Given the description of an element on the screen output the (x, y) to click on. 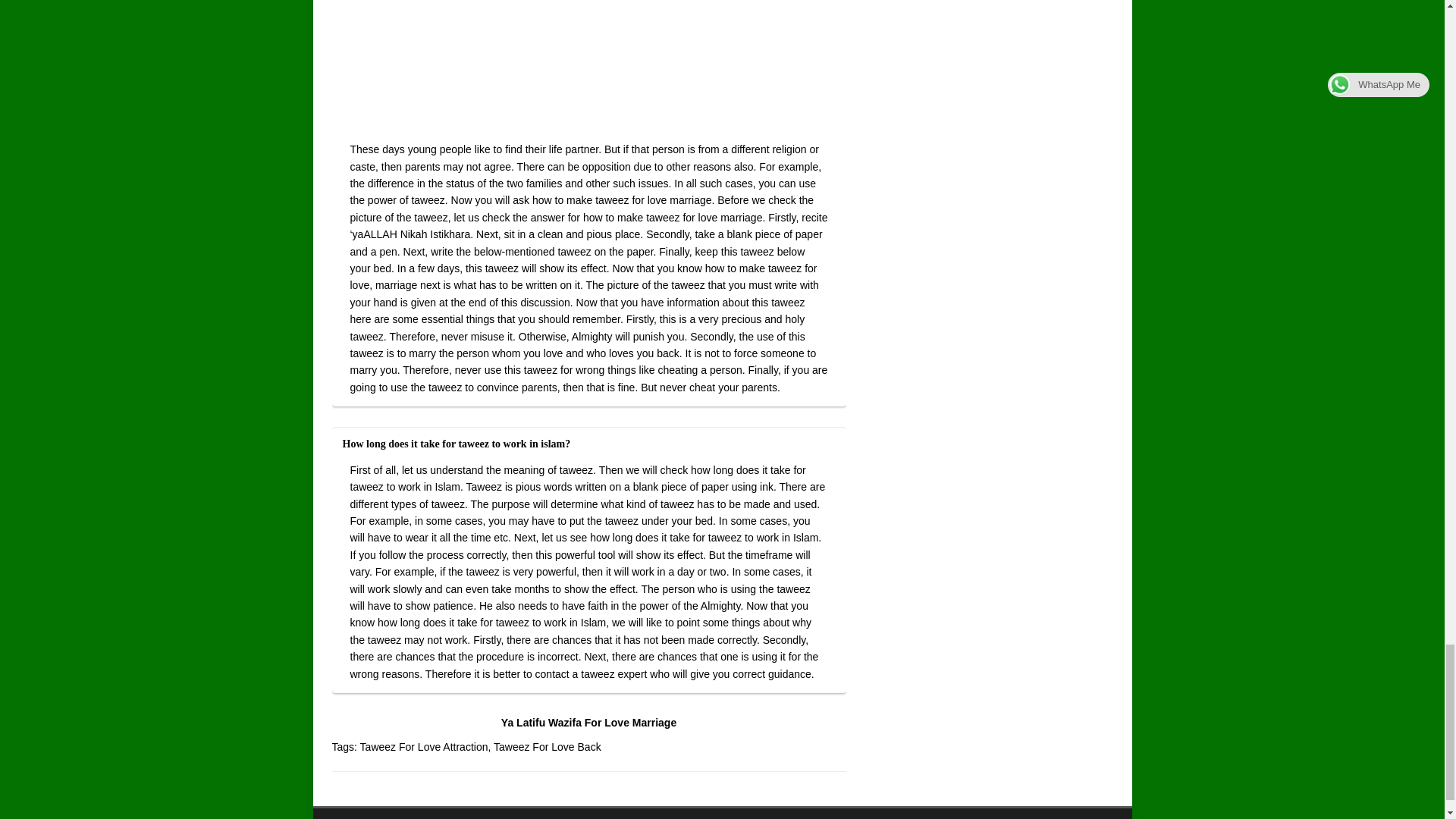
Taweez For Love Attraction (423, 746)
Ya Latifu Wazifa For Love Marriage (588, 722)
tabiz for love marriage (399, 124)
Taweez For Love Back (547, 746)
